Given the description of an element on the screen output the (x, y) to click on. 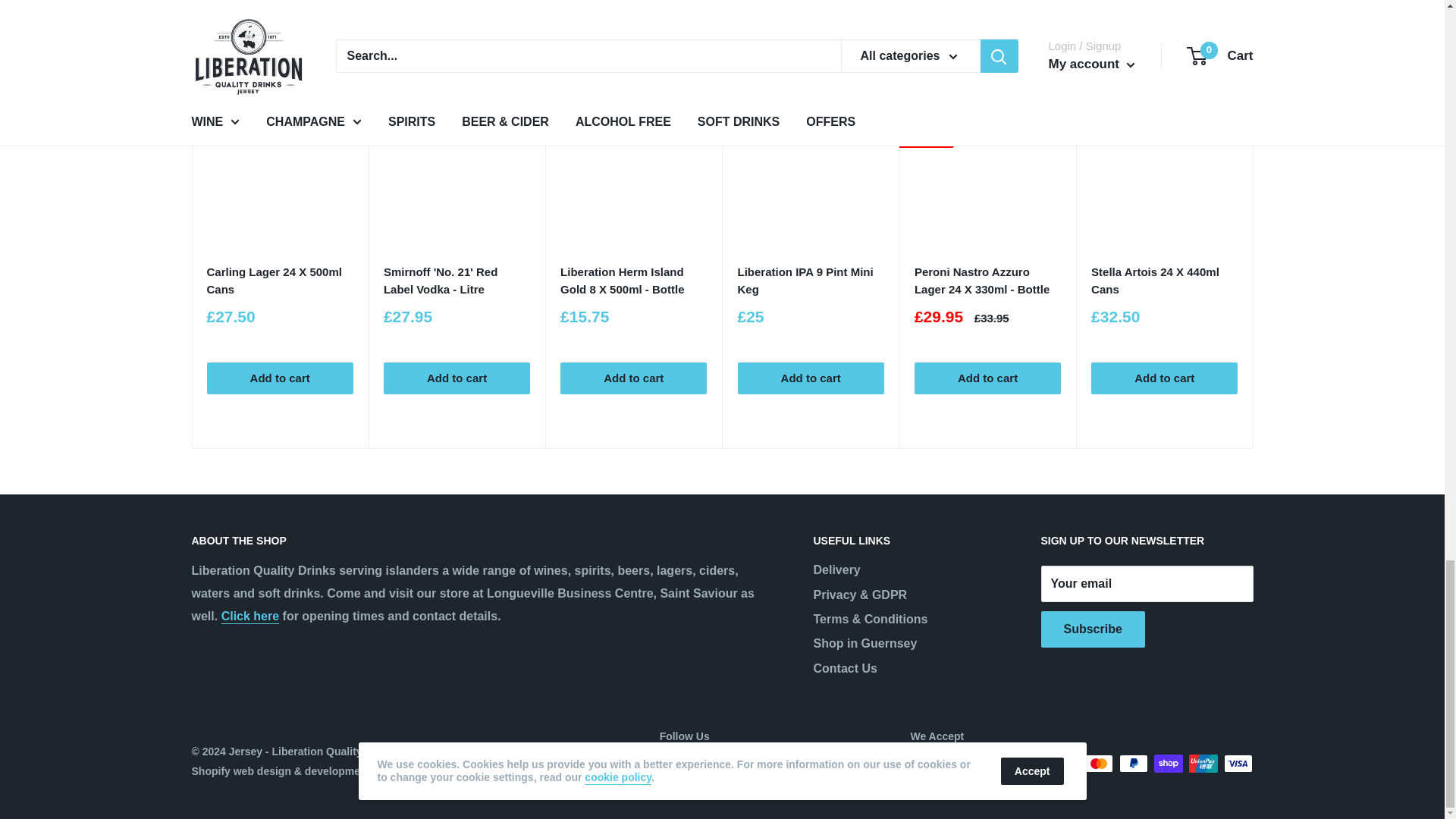
Contact Us (250, 615)
